Given the description of an element on the screen output the (x, y) to click on. 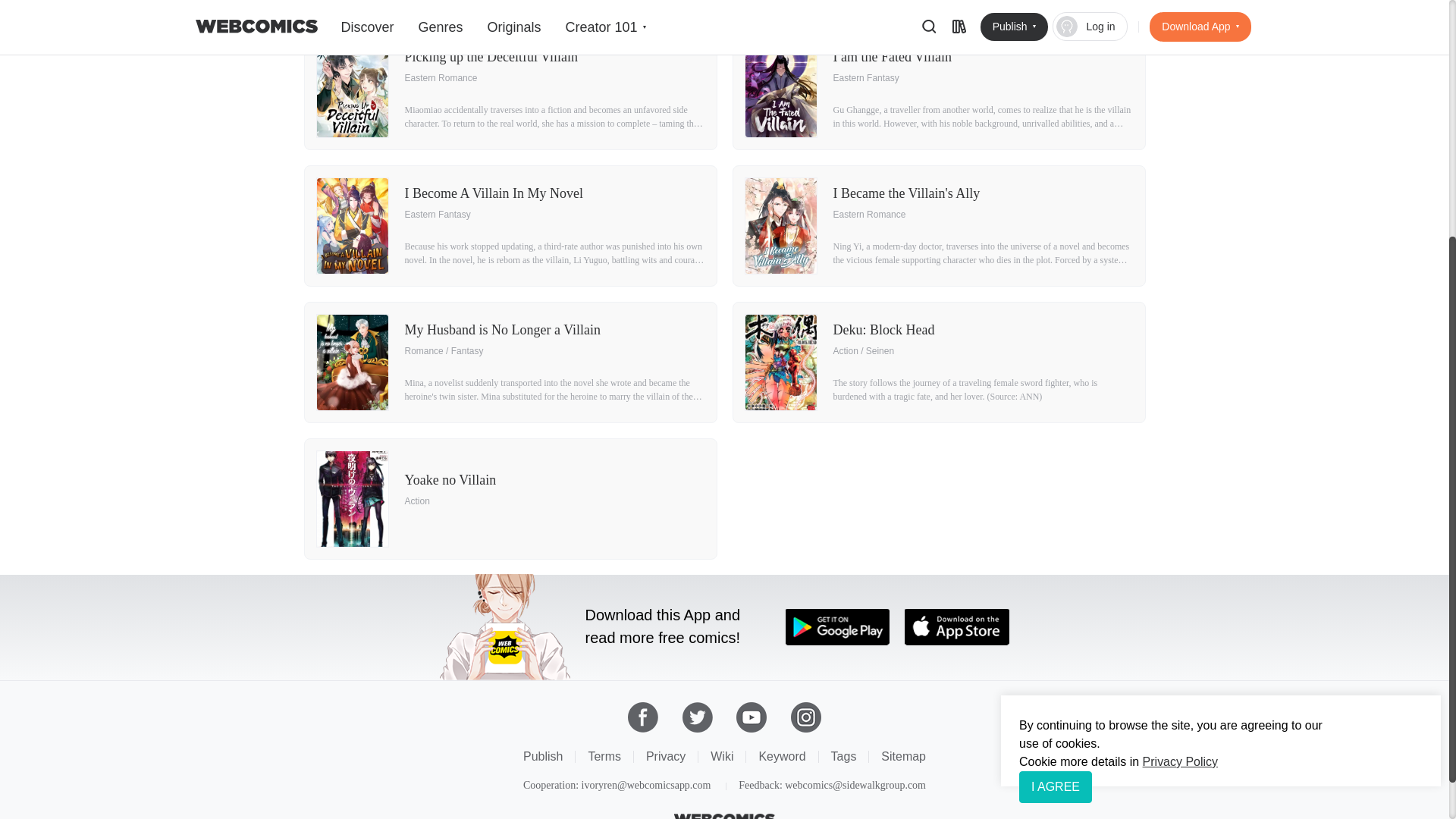
Privacy (665, 756)
Wiki (721, 756)
Keyword (781, 756)
Terms (604, 756)
Publish (509, 498)
Tags (542, 756)
